Given the description of an element on the screen output the (x, y) to click on. 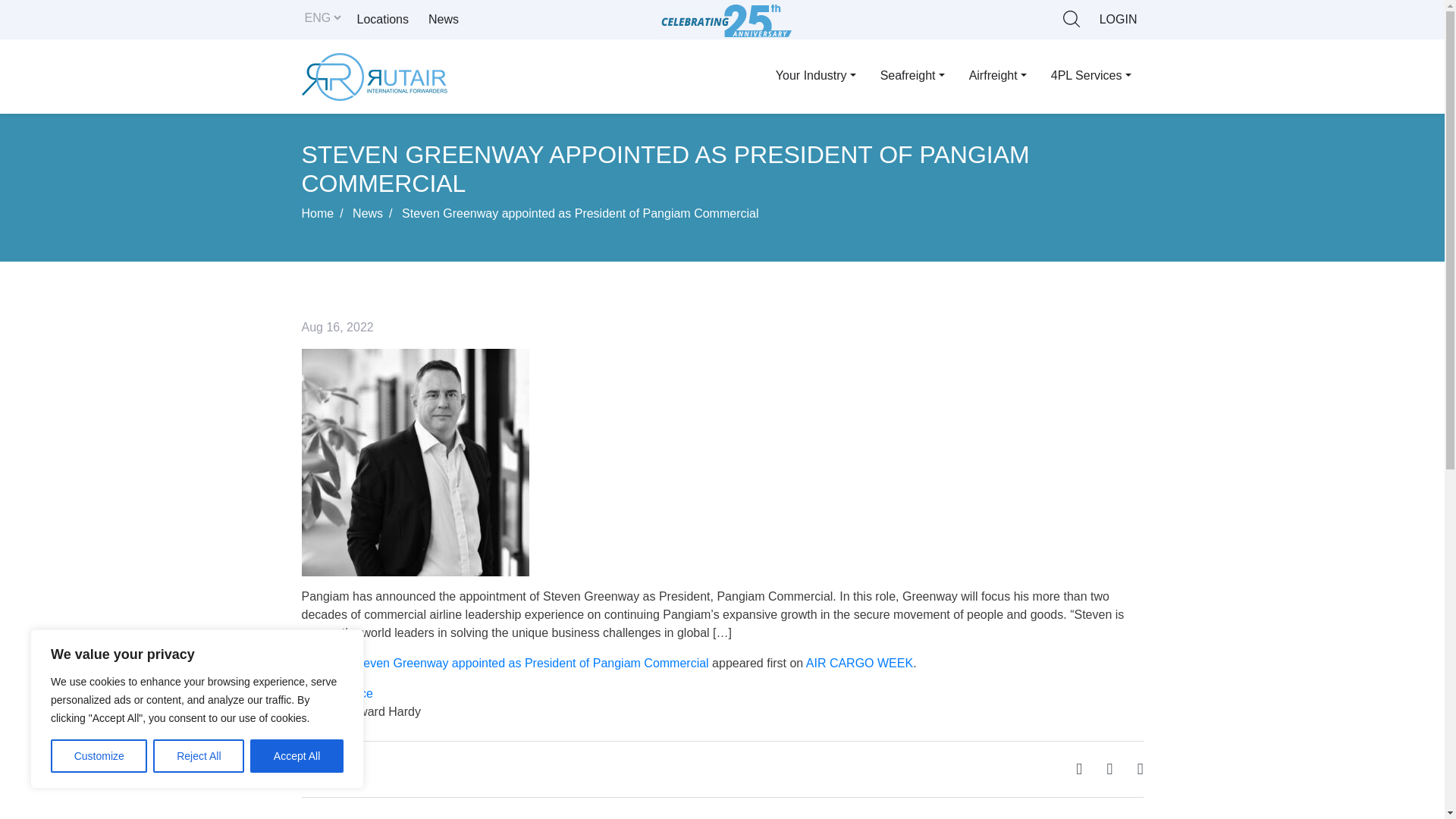
Your Industry (814, 75)
Locations (382, 19)
LOGIN (1117, 19)
Reject All (198, 756)
Airfreight (997, 75)
4PL Services (1090, 75)
Seafreight (911, 75)
Accept All (296, 756)
Customize (98, 756)
News (443, 19)
